Given the description of an element on the screen output the (x, y) to click on. 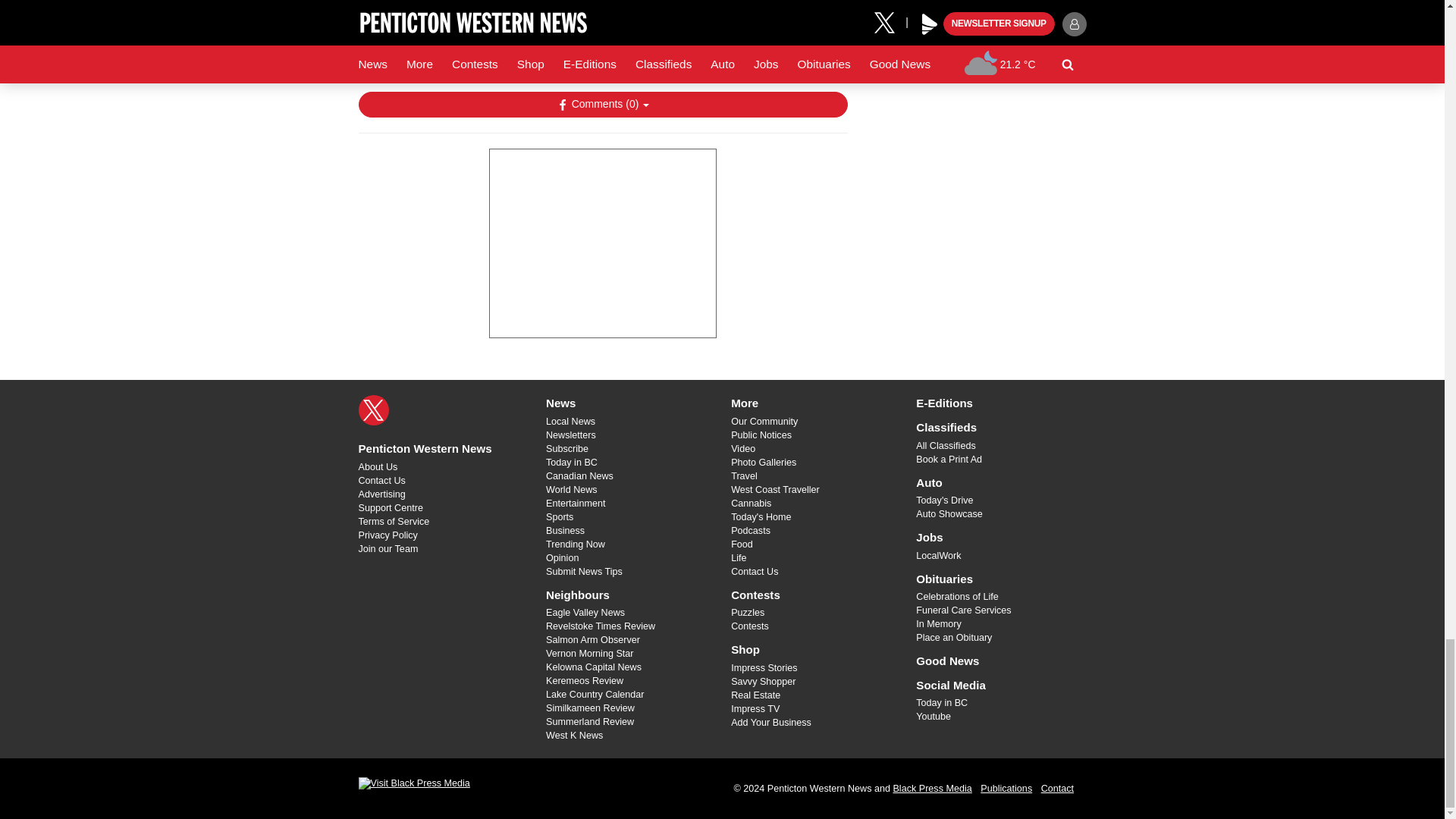
X (373, 409)
3rd party ad content (602, 243)
Show Comments (602, 104)
